Given the description of an element on the screen output the (x, y) to click on. 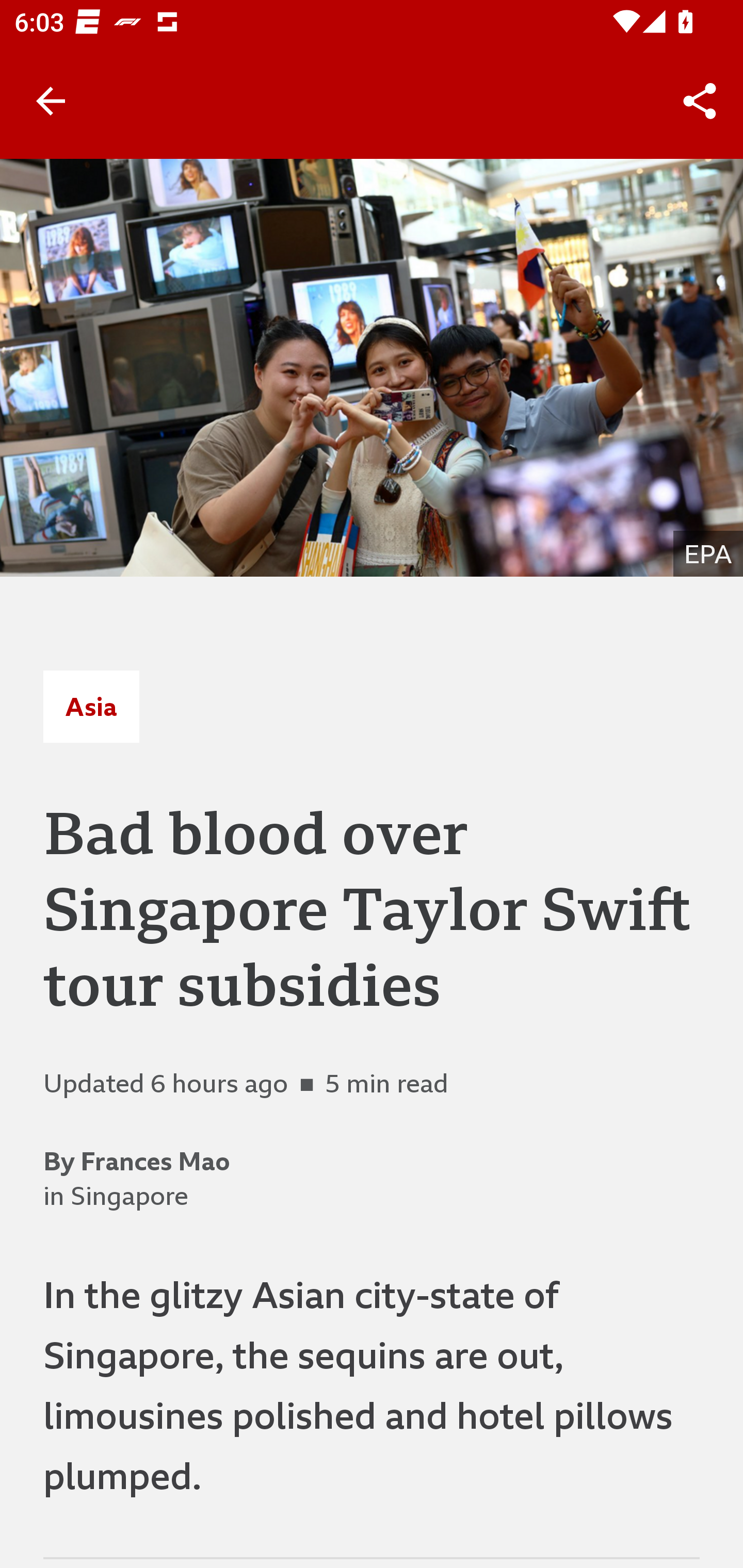
Back (50, 101)
Share (699, 101)
Asia (91, 706)
